Given the description of an element on the screen output the (x, y) to click on. 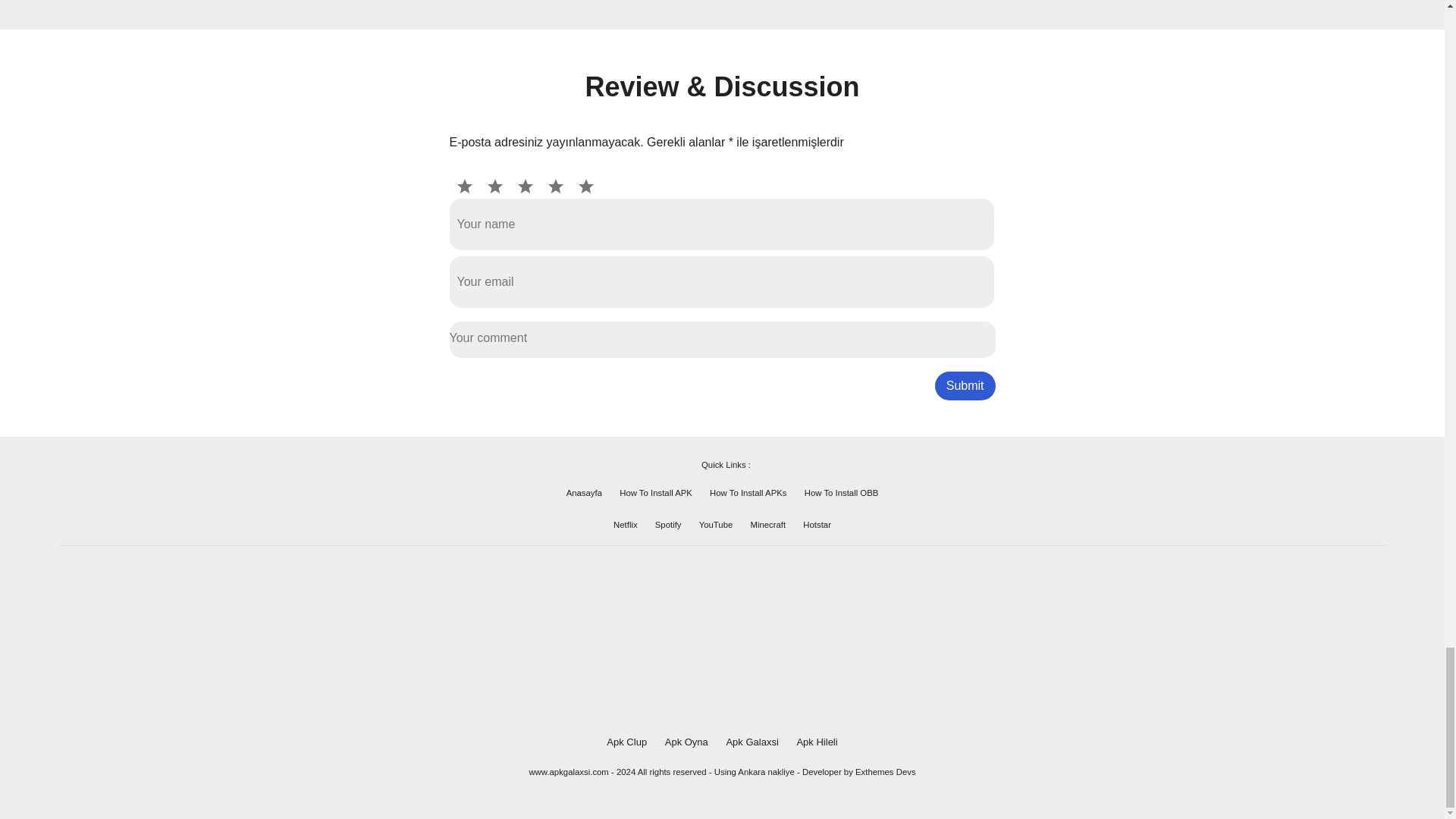
How To Install APKs (748, 492)
How To Install APK (656, 492)
Apk Clup (626, 741)
Apk Galaxsi (751, 741)
How To Install OBB (842, 492)
Apk Hileli (816, 741)
premium wordpress themes - exthem.es (885, 771)
Submit (964, 385)
Netflix (624, 524)
Anasayfa (584, 492)
